Given the description of an element on the screen output the (x, y) to click on. 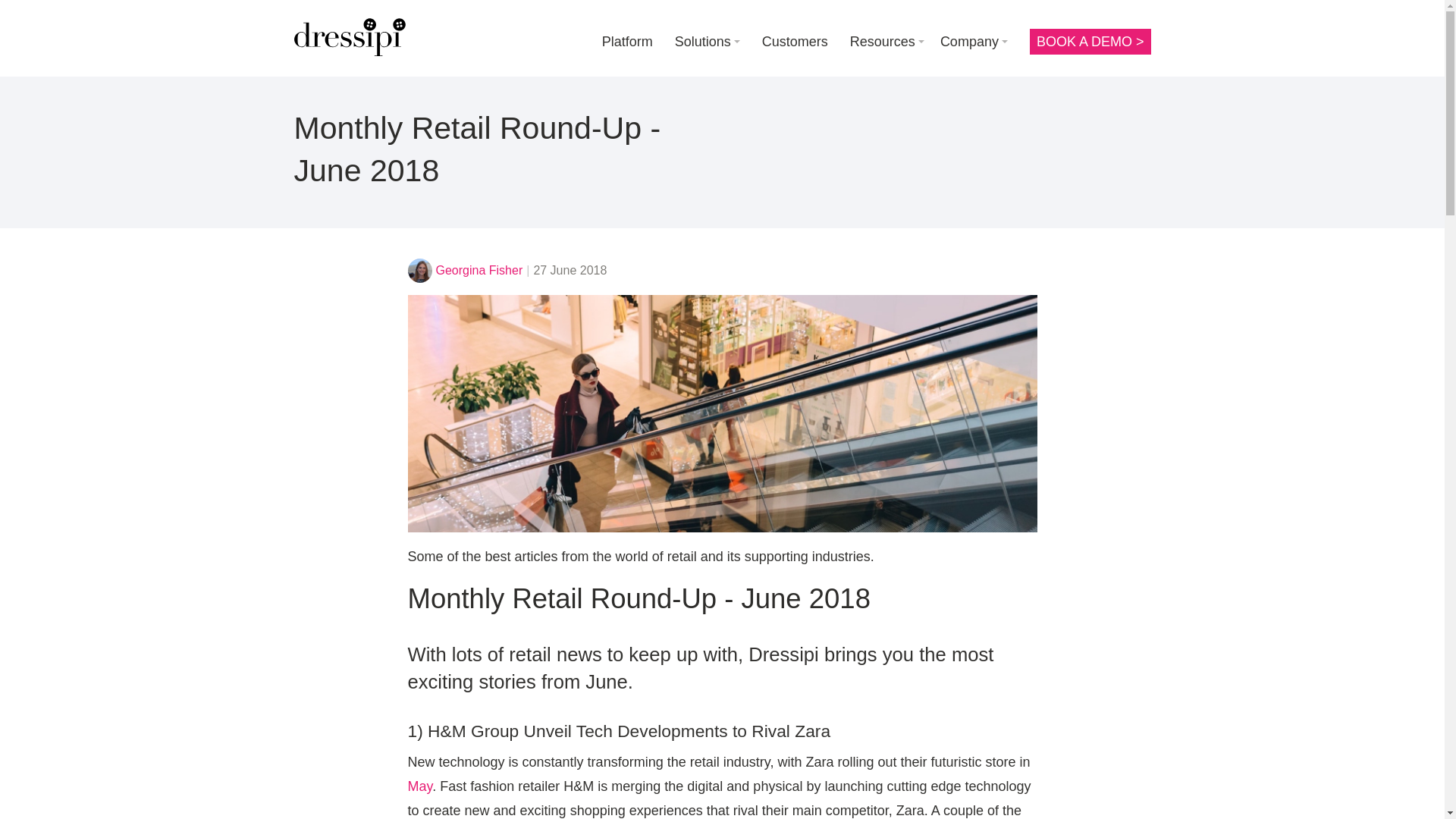
Georgina Fisher (419, 270)
Book a Demo (1090, 41)
May (419, 785)
Georgina Fisher (478, 270)
Customers (794, 41)
Platform (627, 41)
